Given the description of an element on the screen output the (x, y) to click on. 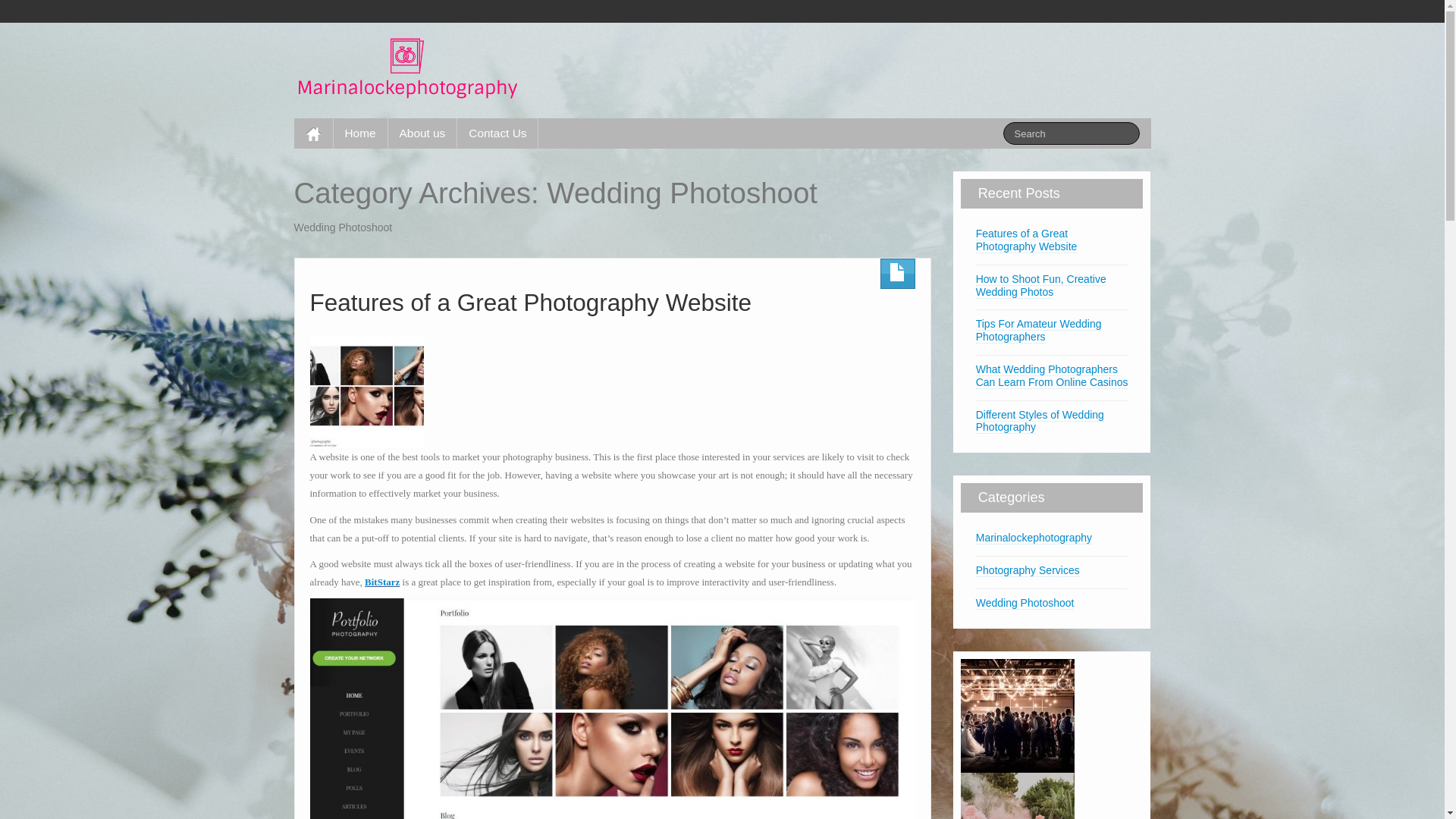
Wedding Photoshoot Element type: text (1024, 602)
Contact Us Element type: text (497, 133)
Marinalockephotography Element type: text (1033, 537)
Features of a Great Photography Website Element type: text (530, 301)
Different Styles of Wedding Photography Element type: text (1039, 420)
How to Shoot Fun, Creative Wedding Photos Element type: text (1040, 285)
BitStarz Element type: text (381, 580)
Tips For Amateur Wedding Photographers Element type: text (1038, 330)
Marina Locke Photography Element type: hover (407, 67)
Home Element type: text (360, 133)
Features of a Great Photography Website Element type: text (1026, 240)
About us Element type: text (422, 133)
Photography Services Element type: text (1027, 570)
Permalink to Features of a Great Photography Website Element type: hover (366, 389)
What Wedding Photographers Can Learn From Online Casinos Element type: text (1051, 376)
